Given the description of an element on the screen output the (x, y) to click on. 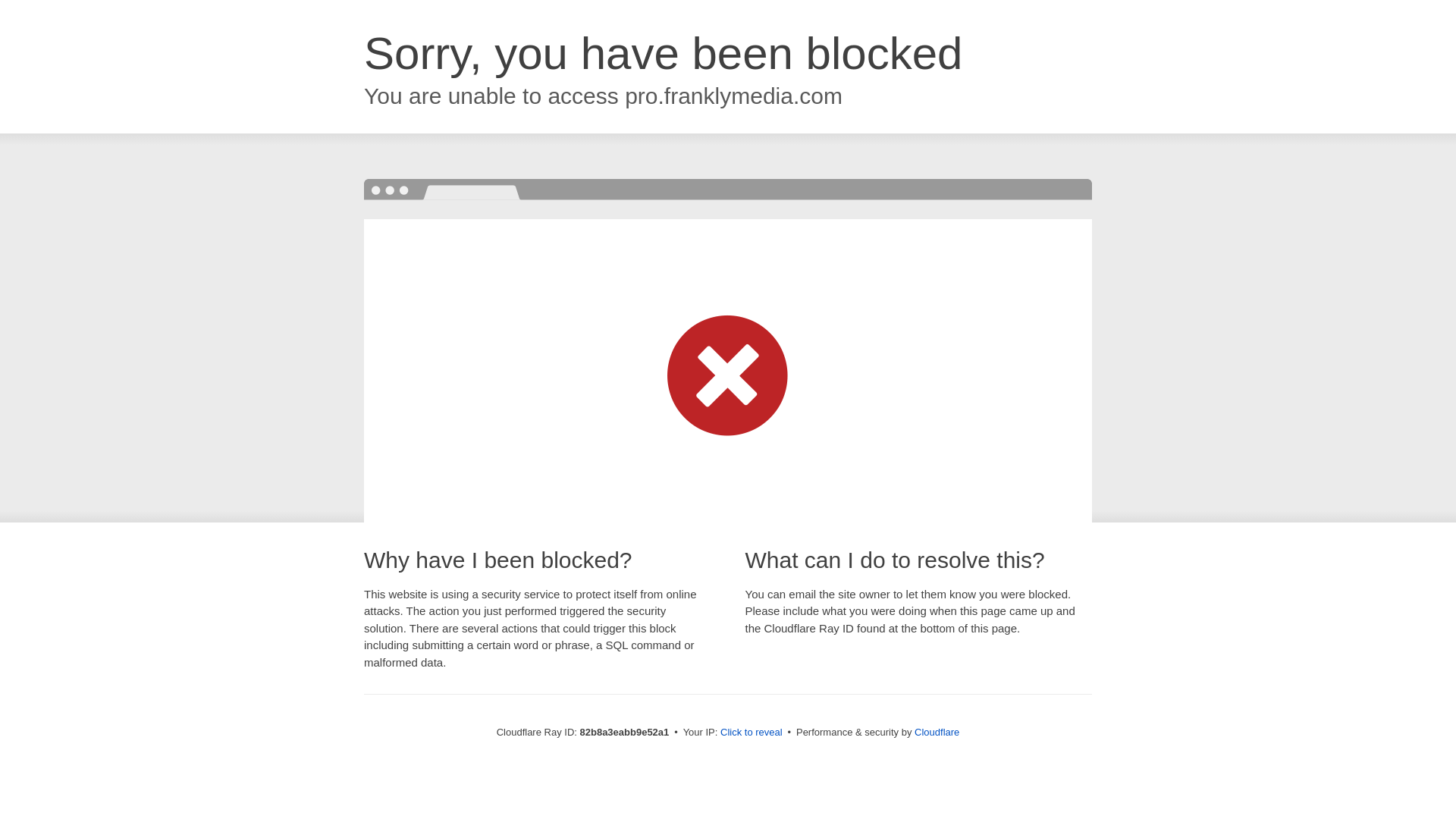
Cloudflare Element type: text (936, 731)
Click to reveal Element type: text (751, 732)
